Given the description of an element on the screen output the (x, y) to click on. 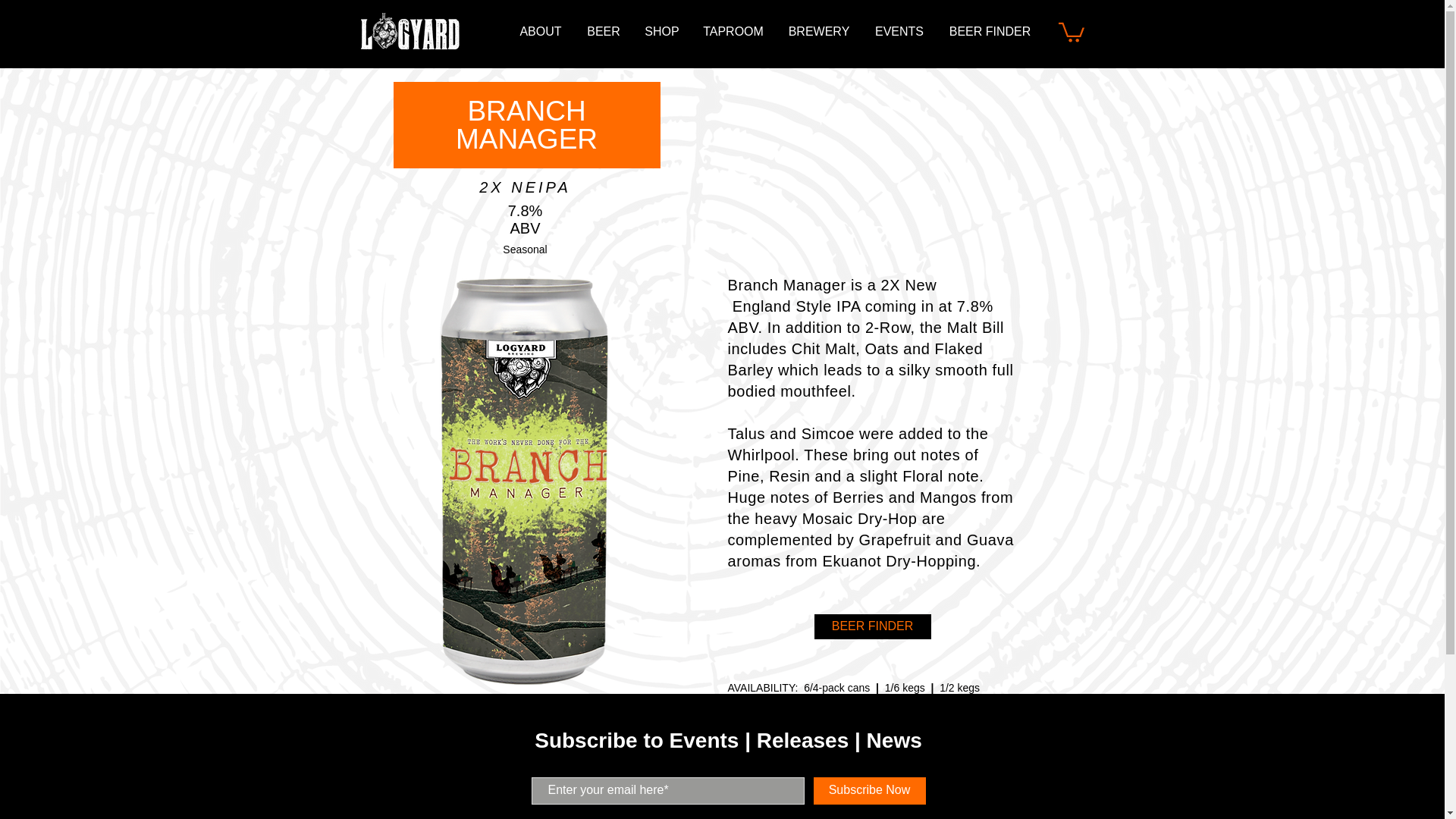
ABOUT (539, 31)
BEER (603, 31)
Subscribe Now (868, 790)
BEER FINDER (872, 626)
EVENTS (899, 31)
BREWERY (818, 31)
TAPROOM (732, 31)
BEER FINDER (989, 31)
SHOP (661, 31)
